Given the description of an element on the screen output the (x, y) to click on. 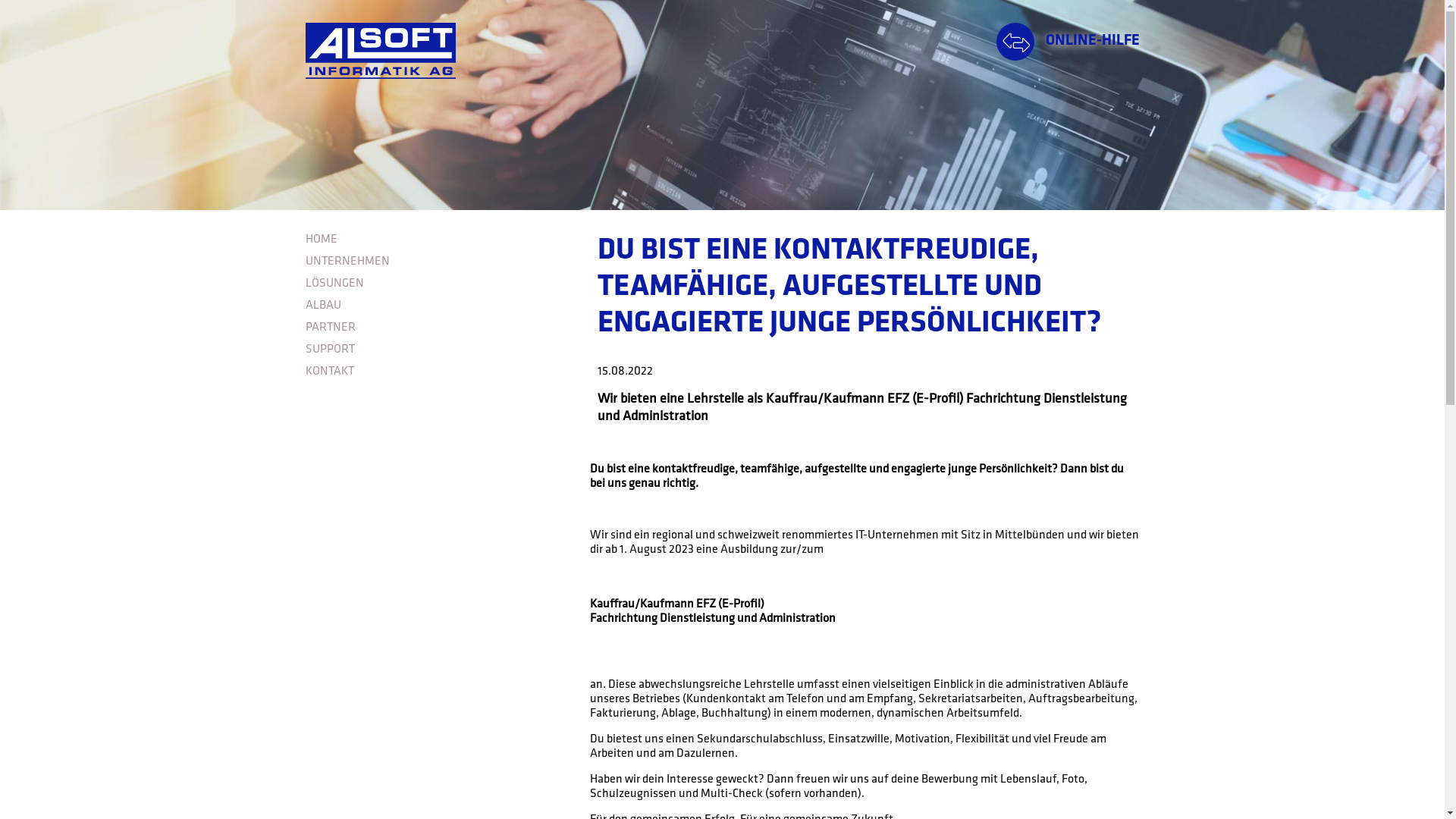
ONLINE-HILFE Element type: text (1067, 41)
ALBAU Element type: text (429, 305)
KONTAKT Element type: text (429, 371)
UNTERNEHMEN Element type: text (429, 261)
HOME Element type: text (429, 239)
PARTNER Element type: text (429, 327)
Startseite Element type: hover (379, 50)
SUPPORT Element type: text (429, 349)
